Given the description of an element on the screen output the (x, y) to click on. 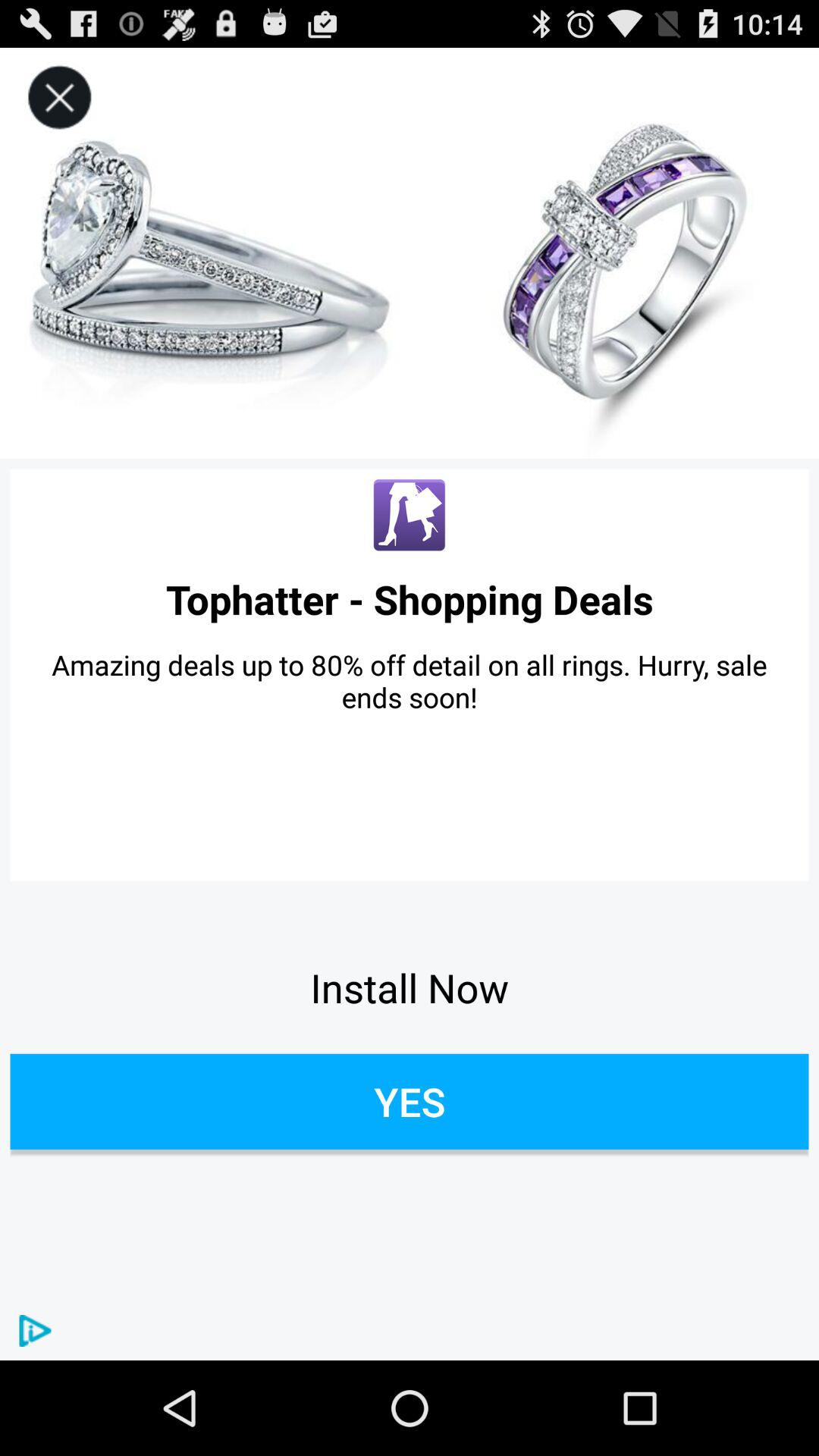
select item below tophatter - shopping deals app (409, 680)
